Given the description of an element on the screen output the (x, y) to click on. 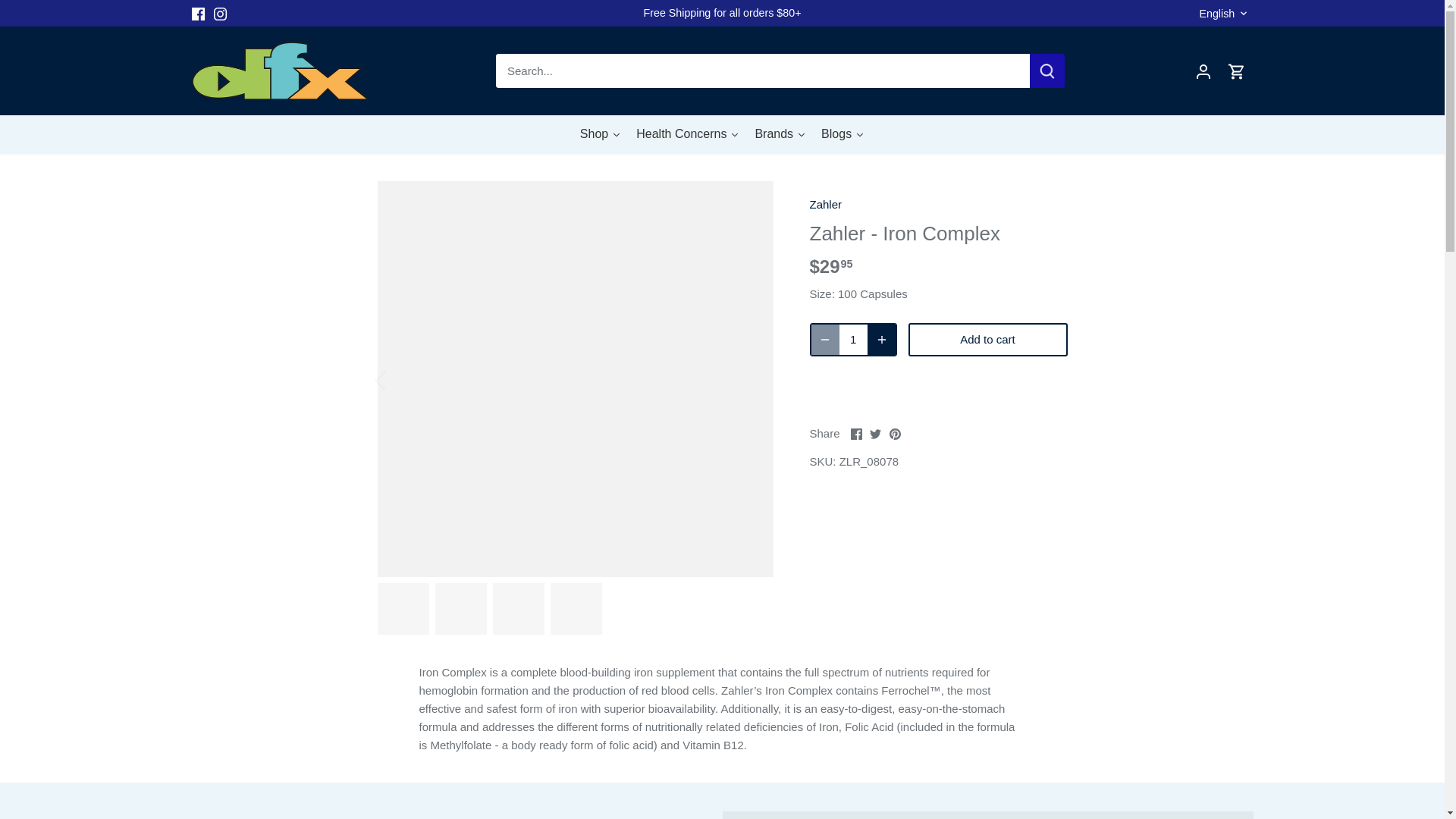
Shop (600, 134)
Pinterest (895, 433)
Brands (855, 431)
Zahler (779, 134)
Instagram (826, 204)
Health Concerns (220, 13)
Go to cart (687, 134)
Facebook (1235, 70)
Twitter (196, 13)
Shop (874, 433)
Blogs (600, 134)
1 (842, 134)
Add to cart (895, 431)
